Given the description of an element on the screen output the (x, y) to click on. 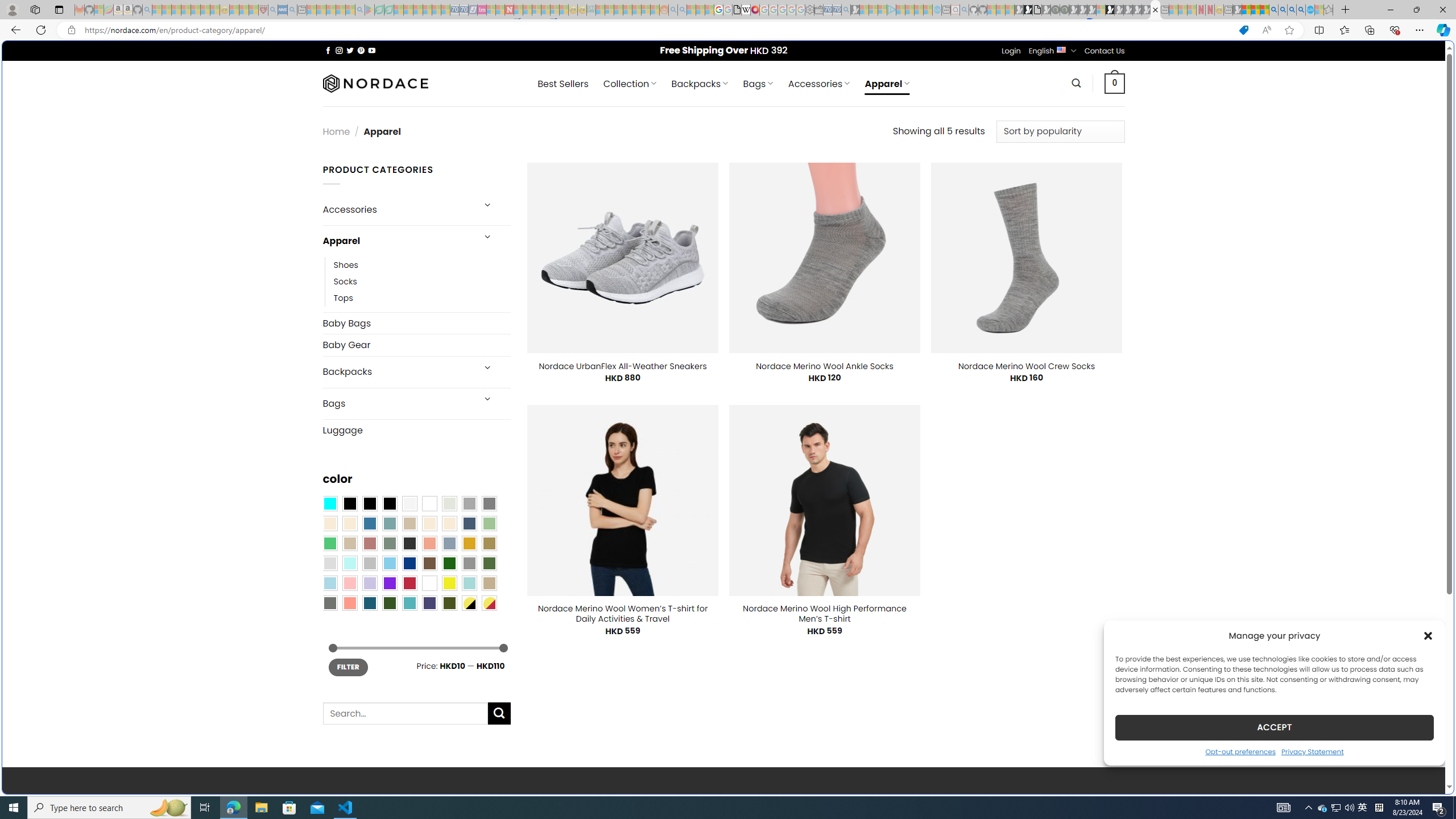
Login (1010, 50)
Expert Portfolios - Sleeping (627, 9)
Contact Us (1104, 50)
Silver (369, 562)
Play Cave FRVR in your browser | Games from Microsoft Start (922, 242)
Baby Gear (416, 345)
Red (408, 582)
